Given the description of an element on the screen output the (x, y) to click on. 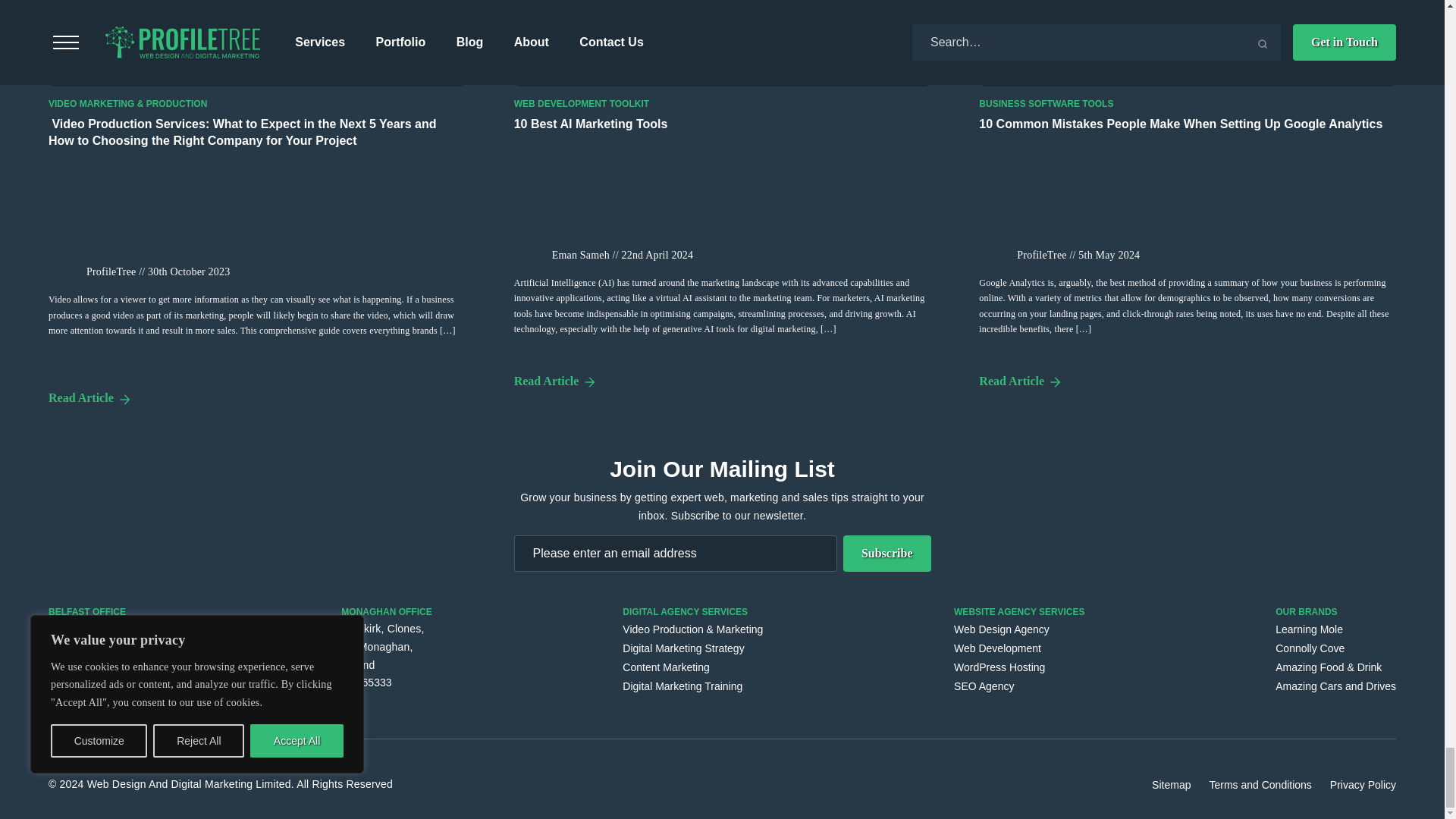
Subscribe (887, 553)
